Given the description of an element on the screen output the (x, y) to click on. 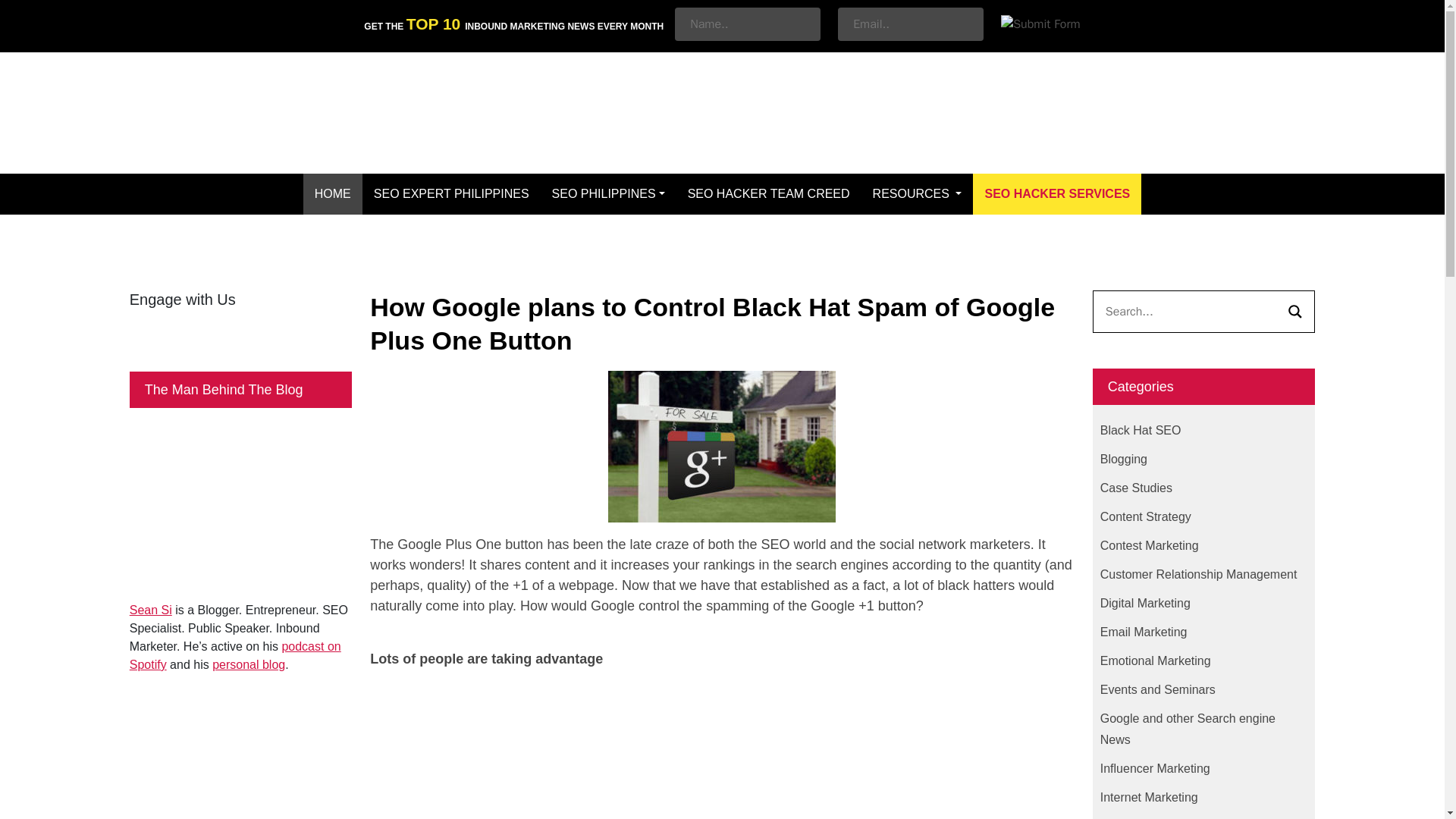
personal blog (248, 664)
SEO EXPERT PHILIPPINES (451, 193)
HOME (332, 193)
SEO PHILIPPINES (608, 193)
podcast on Spotify (234, 654)
Google plus one spam (721, 446)
SEO HACKER SERVICES (1056, 193)
SEO HACKER TEAM CREED (769, 193)
Sean Si (150, 609)
RESOURCES (917, 193)
